Given the description of an element on the screen output the (x, y) to click on. 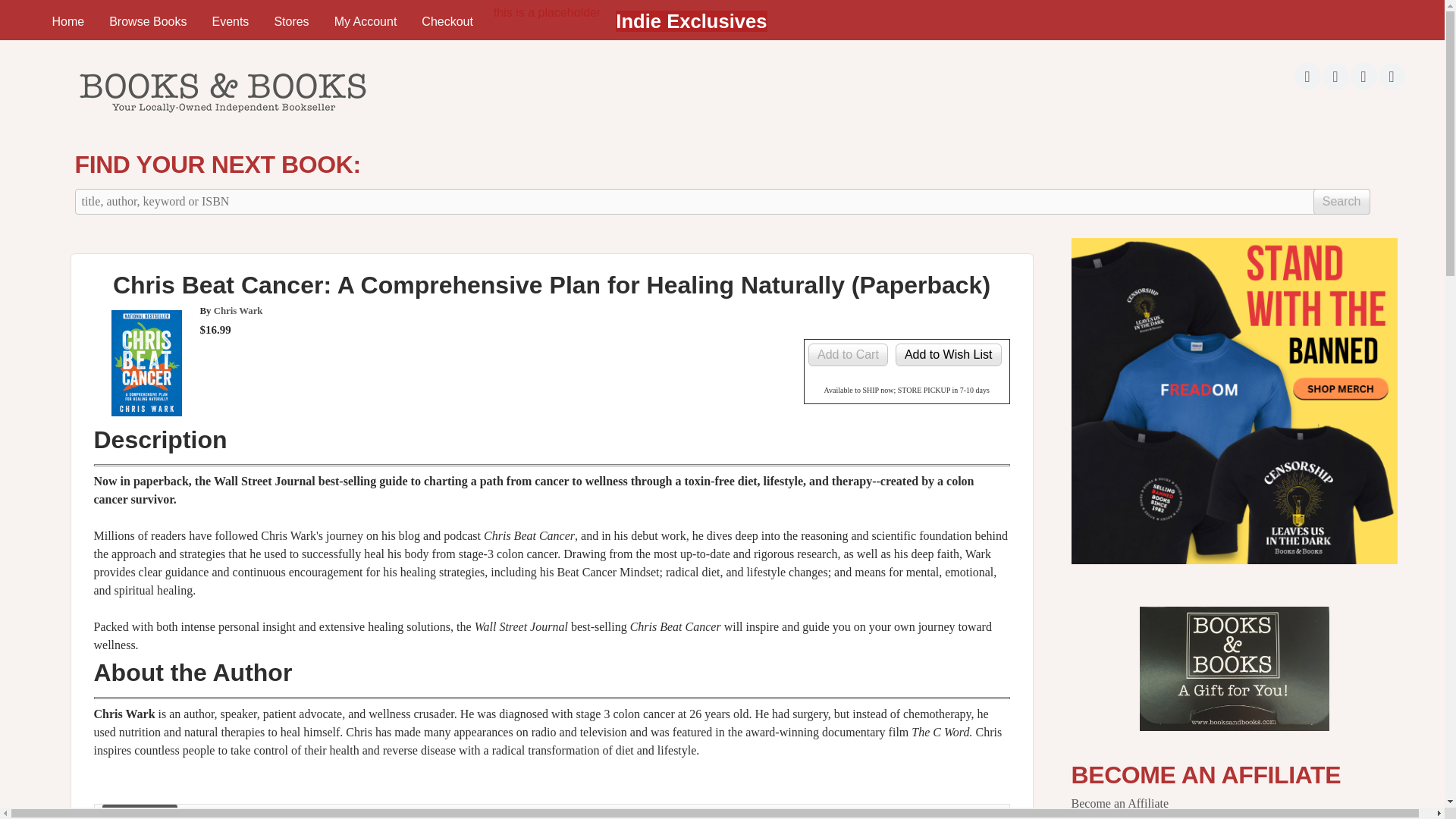
Become an Affiliate (1119, 802)
Chris Wark (238, 310)
Add to Cart (848, 354)
Indie Exclusives (691, 20)
Events (229, 22)
Search (1341, 201)
Home page (220, 116)
Browse Books (147, 22)
Add to Cart (848, 354)
Checkout (446, 22)
Enter the terms you wish to search for. (722, 201)
Stores (291, 22)
My Account (365, 22)
Search (1341, 201)
Add to Wish List (948, 354)
